Given the description of an element on the screen output the (x, y) to click on. 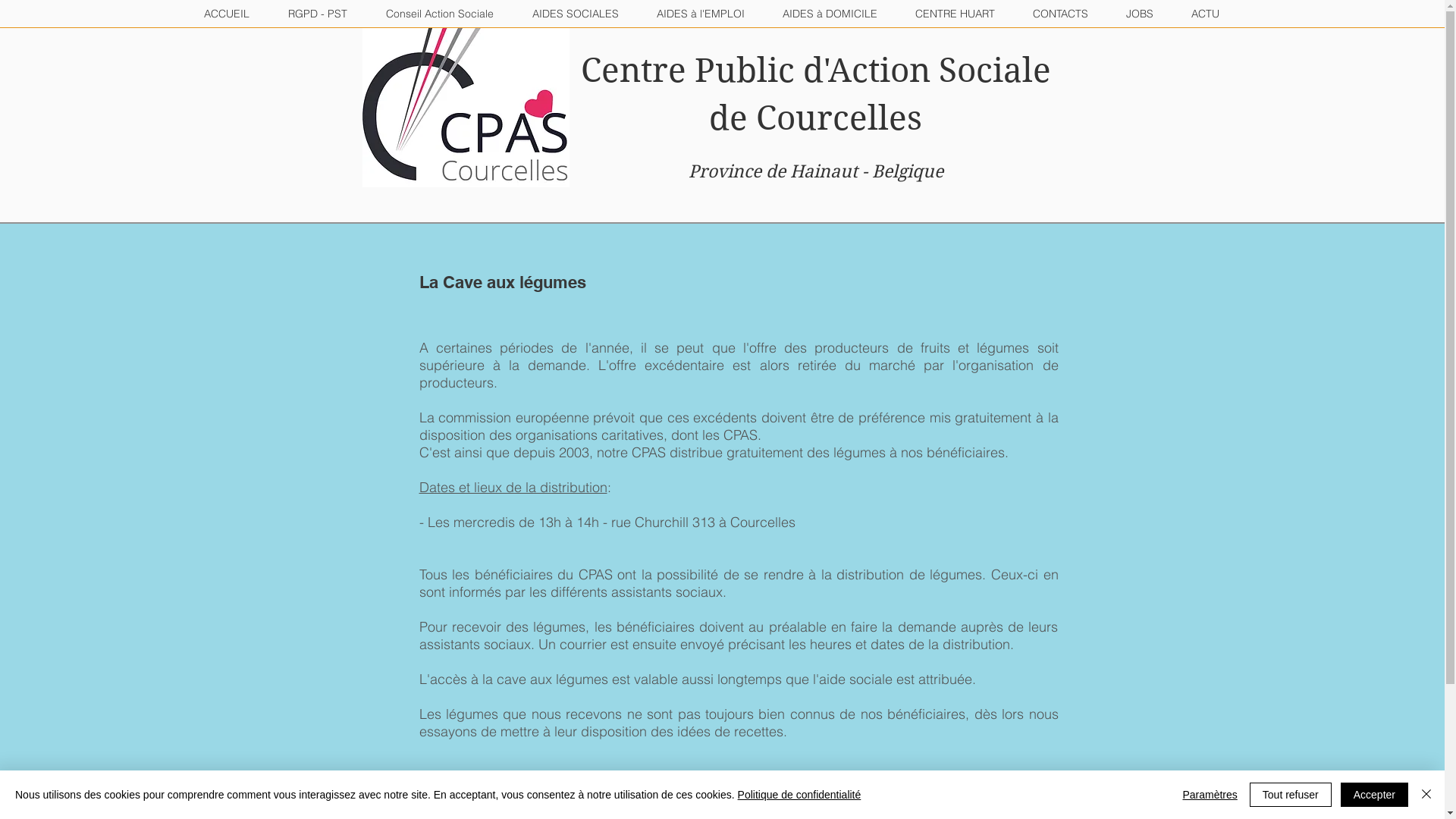
Accepter Element type: text (1374, 794)
RGPD - PST Element type: text (317, 13)
Conseil Action Sociale Element type: text (440, 13)
Tout refuser Element type: text (1290, 794)
ACTU Element type: text (1205, 13)
Centre Element type: text (633, 70)
CONTACTS Element type: text (1059, 13)
CENTRE HUART Element type: text (954, 13)
ACCUEIL Element type: text (227, 13)
JOBS Element type: text (1139, 13)
